Given the description of an element on the screen output the (x, y) to click on. 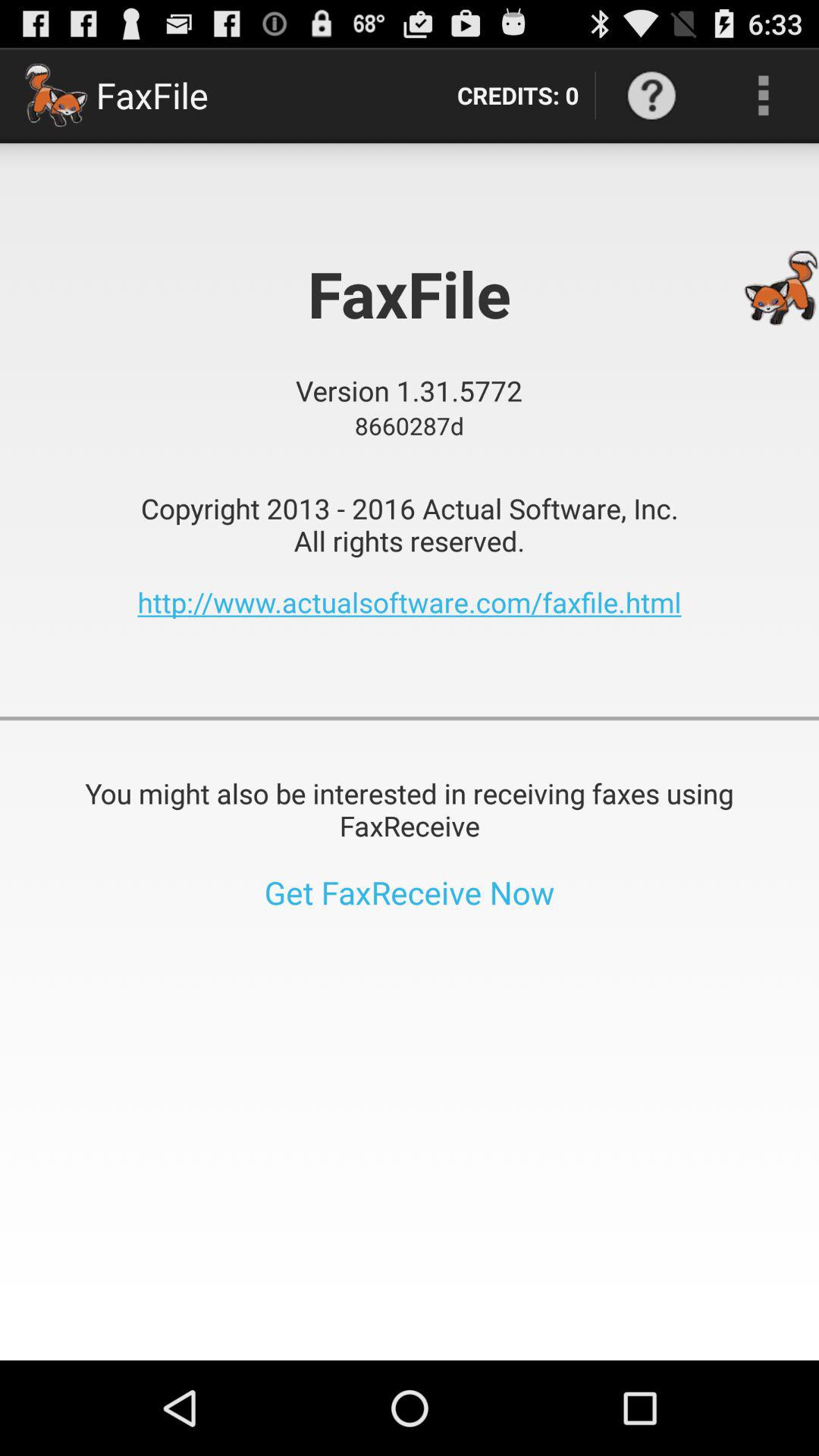
launch the item below the you might also app (409, 892)
